Given the description of an element on the screen output the (x, y) to click on. 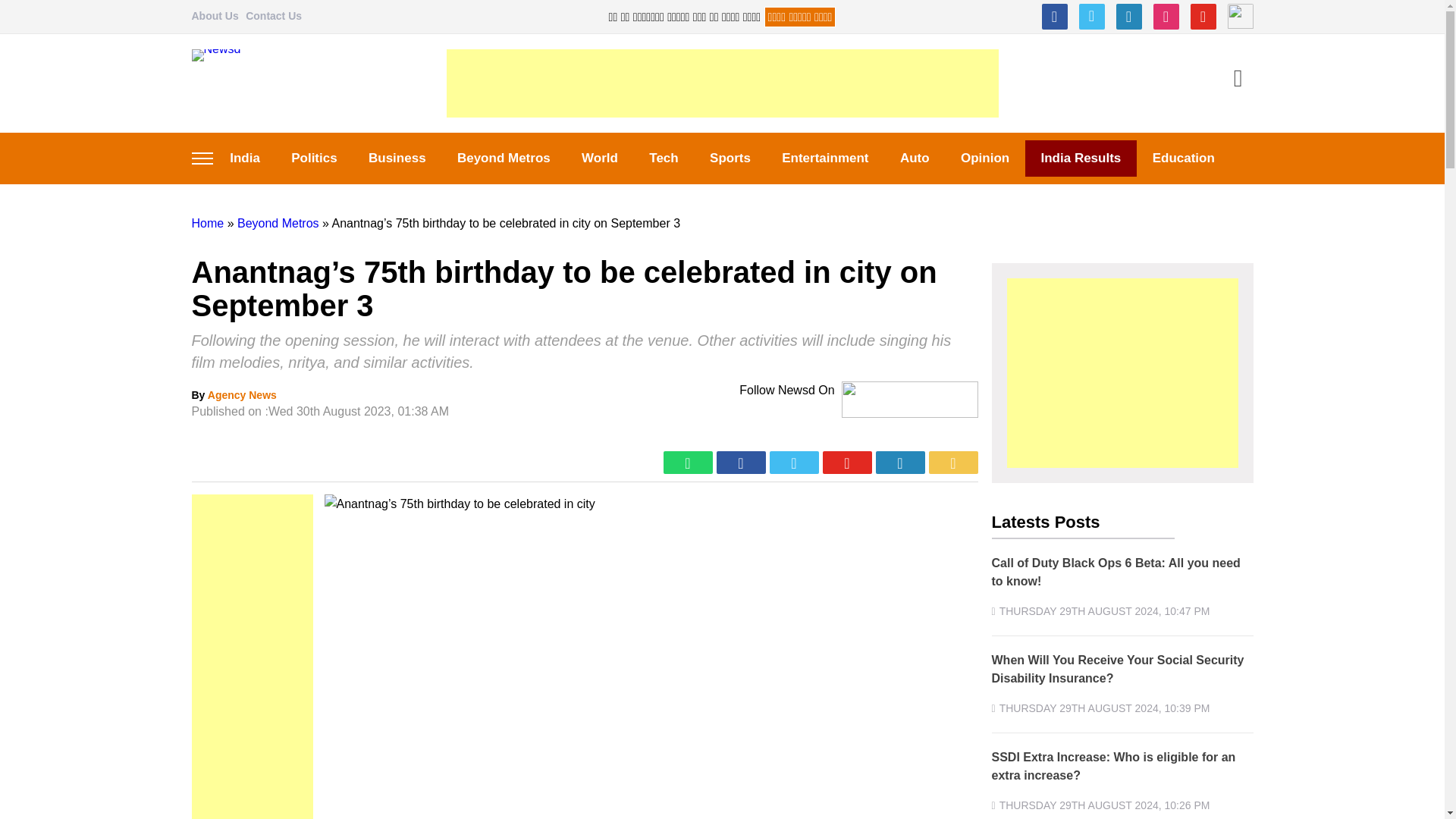
Youtube (1203, 16)
World (599, 158)
World (599, 158)
Politics (314, 158)
About Us (214, 15)
Entertainment (826, 158)
Auto (913, 158)
Linkedin (1128, 16)
Home (207, 223)
Business (396, 158)
